Given the description of an element on the screen output the (x, y) to click on. 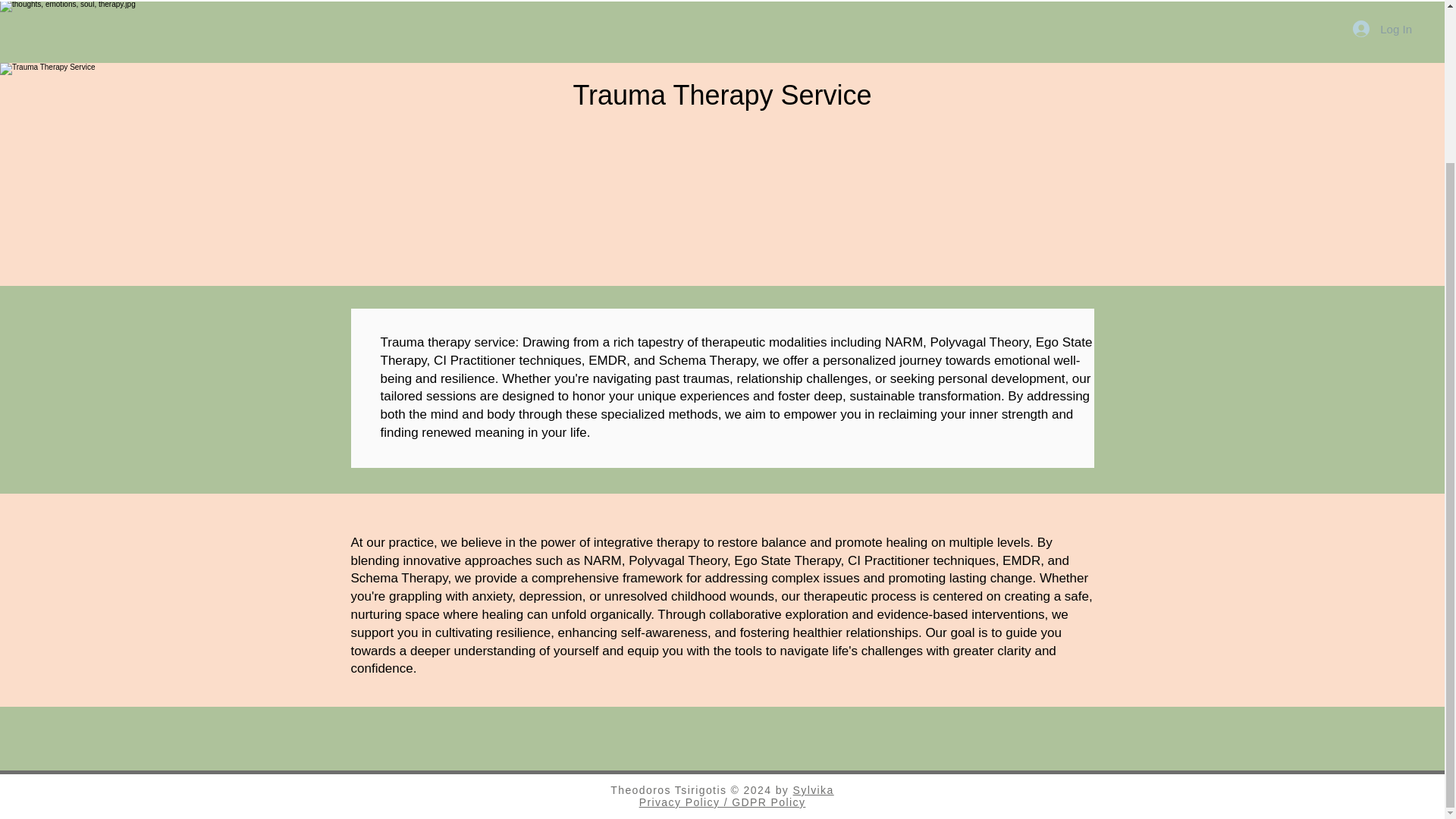
Sylvika (813, 789)
